Given the description of an element on the screen output the (x, y) to click on. 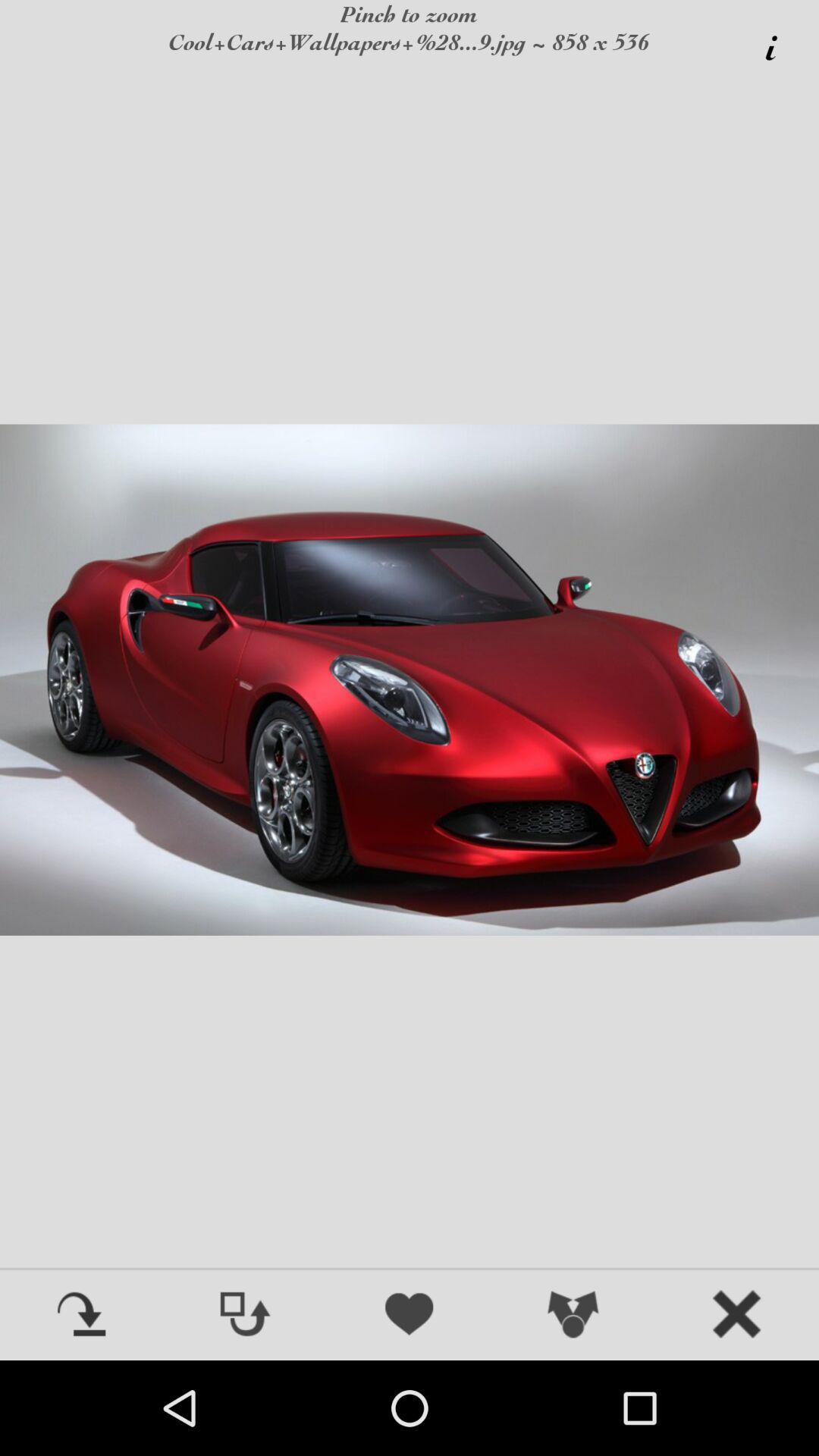
add to favorites (409, 1315)
